Given the description of an element on the screen output the (x, y) to click on. 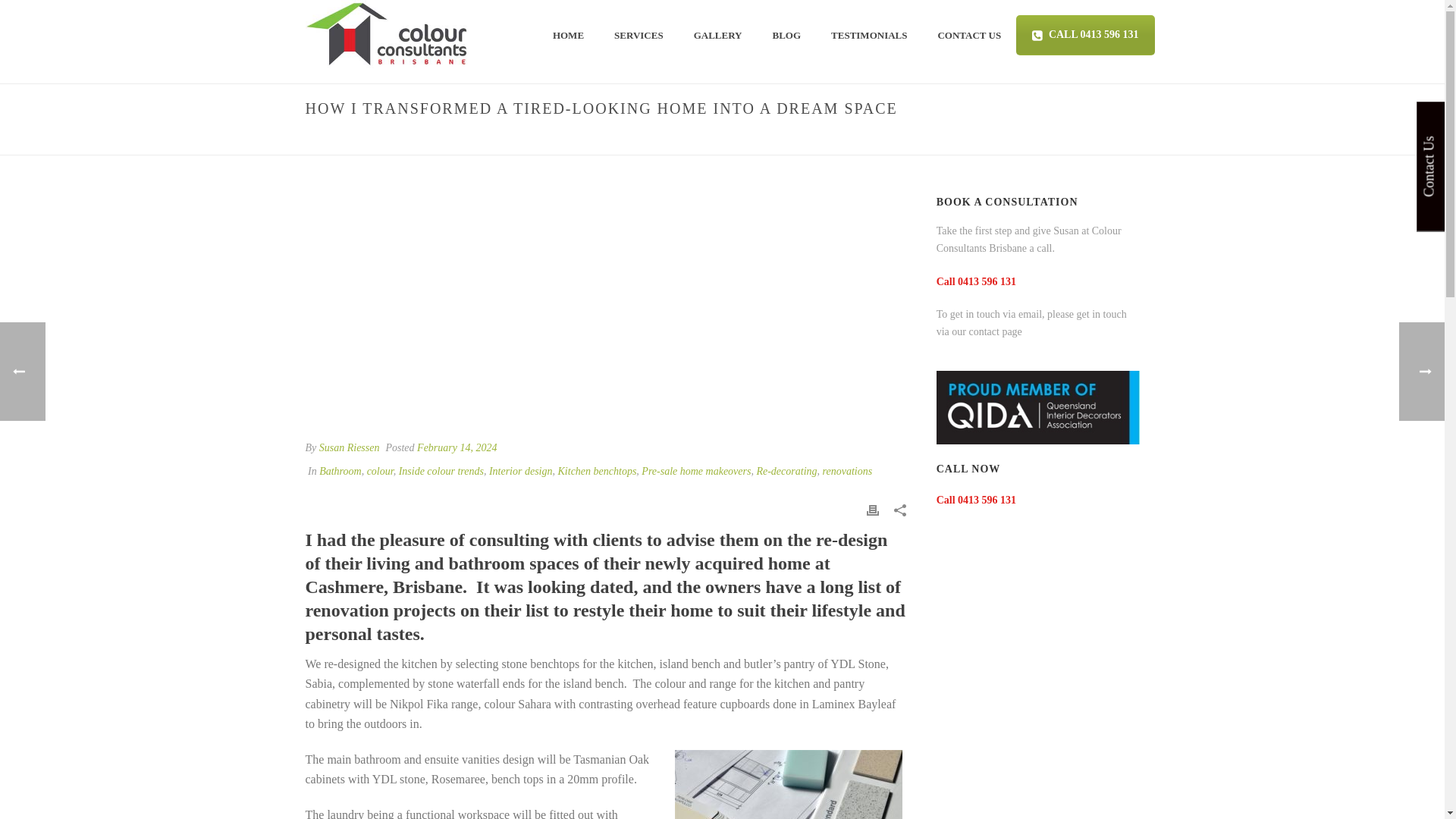
HOME (761, 140)
TESTIMONIALS (868, 33)
CONTACT US (968, 33)
CONTACT US (968, 33)
CALL 0413 596 131 (1085, 35)
SERVICES (638, 33)
BLOG (796, 140)
HOME (567, 33)
HOME (567, 33)
